Given the description of an element on the screen output the (x, y) to click on. 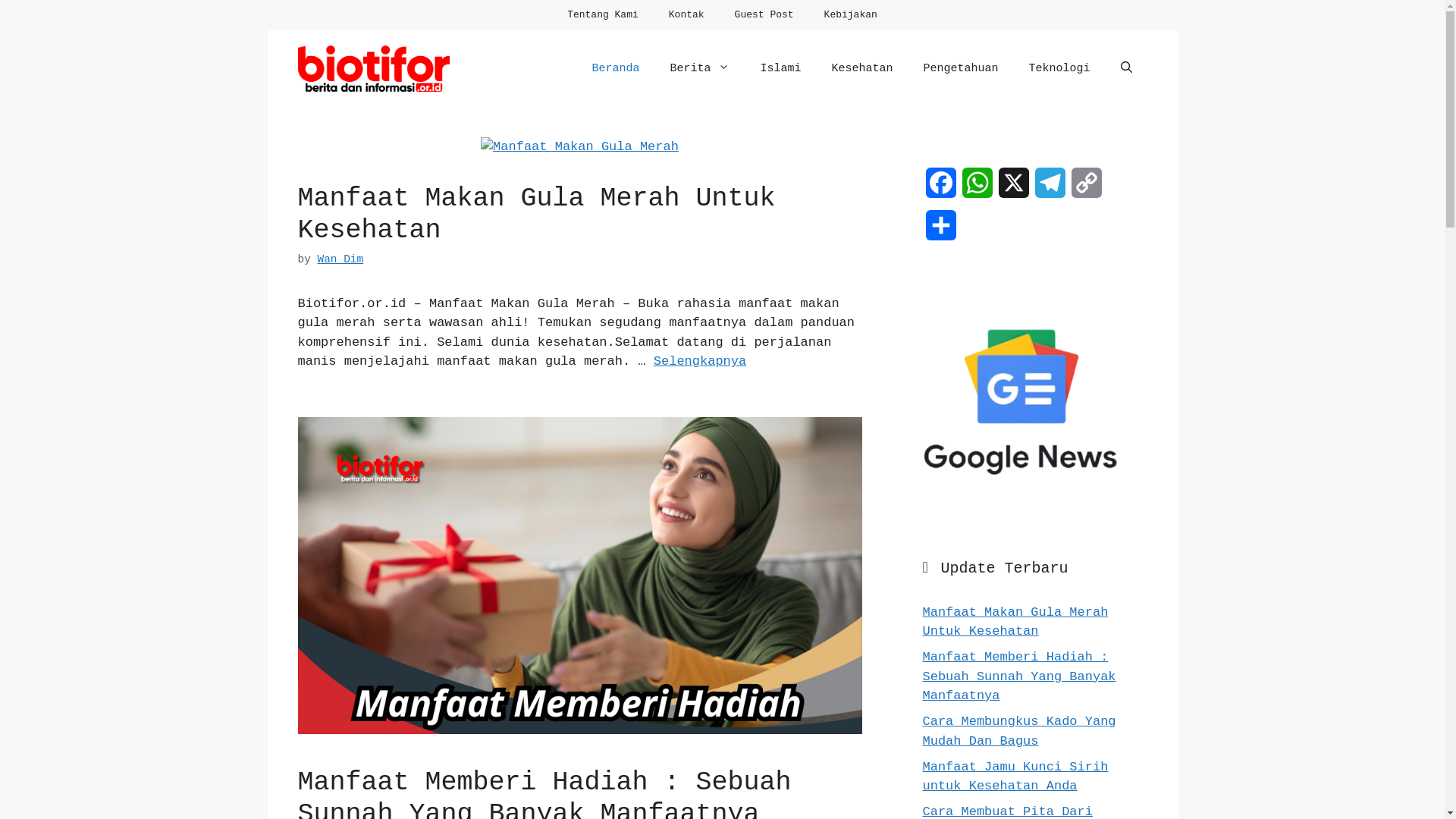
Beranda Element type: text (615, 68)
WhatsApp Element type: text (976, 188)
Manfaat Makan Gula Merah Untuk Kesehatan Element type: text (536, 214)
Facebook Element type: text (940, 188)
Copy Link Element type: text (1085, 188)
X Element type: text (1012, 188)
Telegram Element type: text (1049, 188)
Manfaat Jamu Kunci Sirih untuk Kesehatan Anda Element type: text (1014, 776)
Guest Post Element type: text (764, 15)
Kesehatan Element type: text (861, 68)
Pengetahuan Element type: text (960, 68)
Cara Membungkus Kado Yang Mudah Dan Bagus Element type: text (1018, 731)
Kontak Element type: text (686, 15)
Wan Dim Element type: text (339, 259)
Teknologi Element type: text (1058, 68)
Islami Element type: text (779, 68)
Kebijakan Element type: text (850, 15)
Manfaat Makan Gula Merah Untuk Kesehatan Element type: text (1014, 622)
Share Element type: text (940, 231)
Tentang Kami Element type: text (602, 15)
Berita Element type: text (699, 68)
Selengkapnya Element type: text (699, 361)
